Given the description of an element on the screen output the (x, y) to click on. 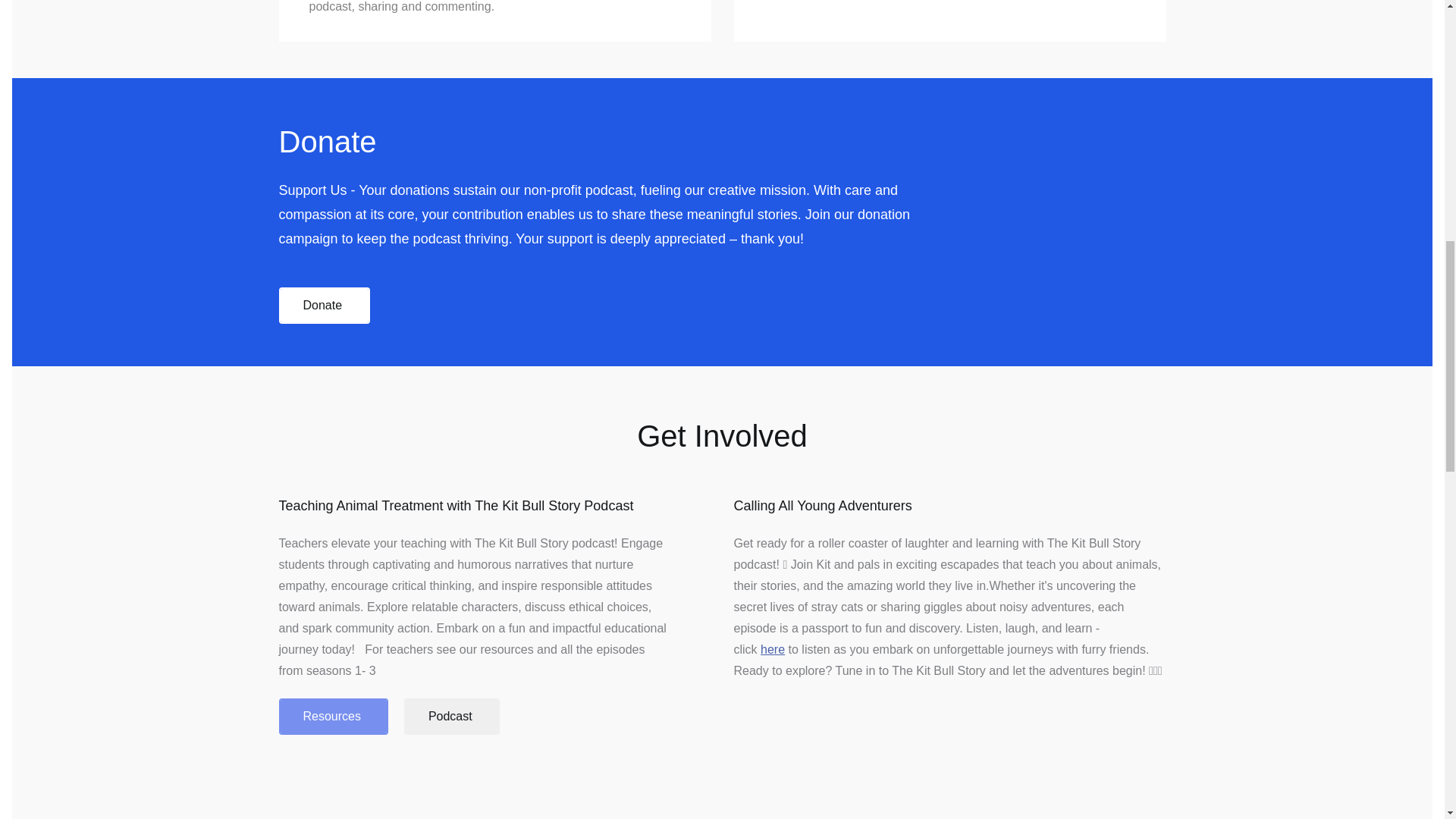
Podcast  (451, 716)
Resources  (333, 716)
Donate  (324, 305)
here (772, 649)
